Given the description of an element on the screen output the (x, y) to click on. 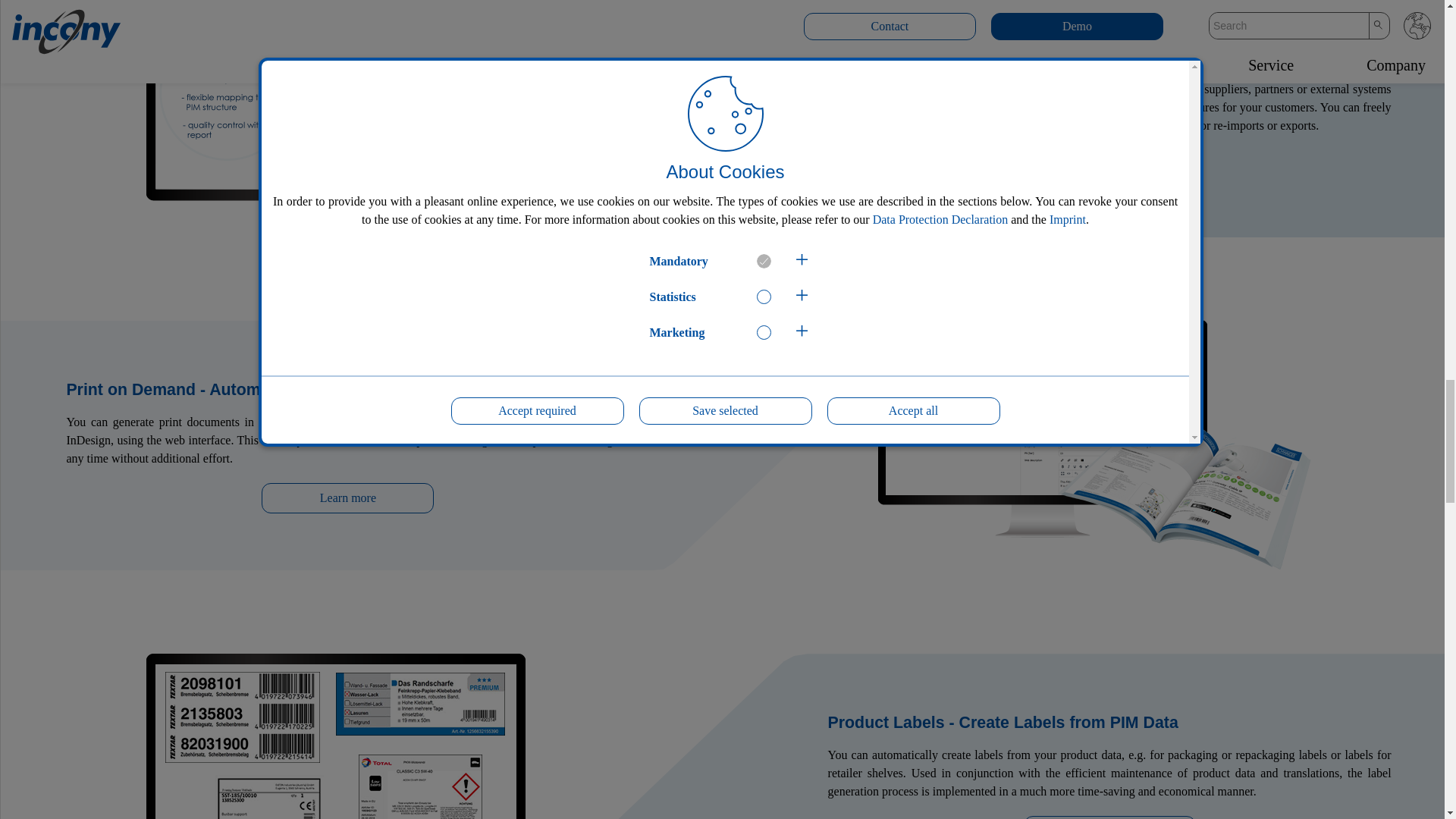
Learn more (347, 498)
Learn more (1109, 164)
